Given the description of an element on the screen output the (x, y) to click on. 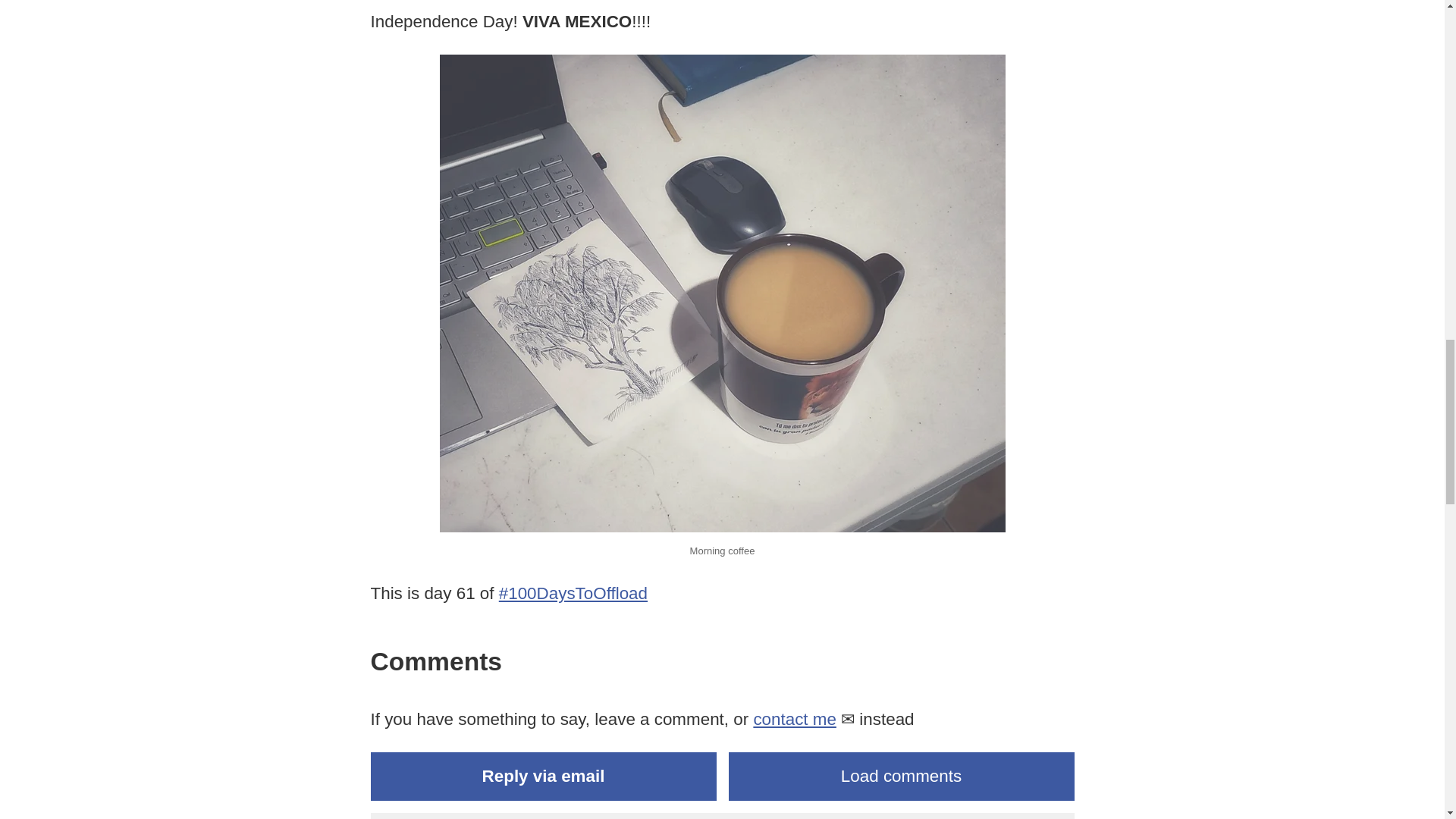
contact me (793, 719)
Load comments (901, 776)
Reply via email (542, 776)
